Given the description of an element on the screen output the (x, y) to click on. 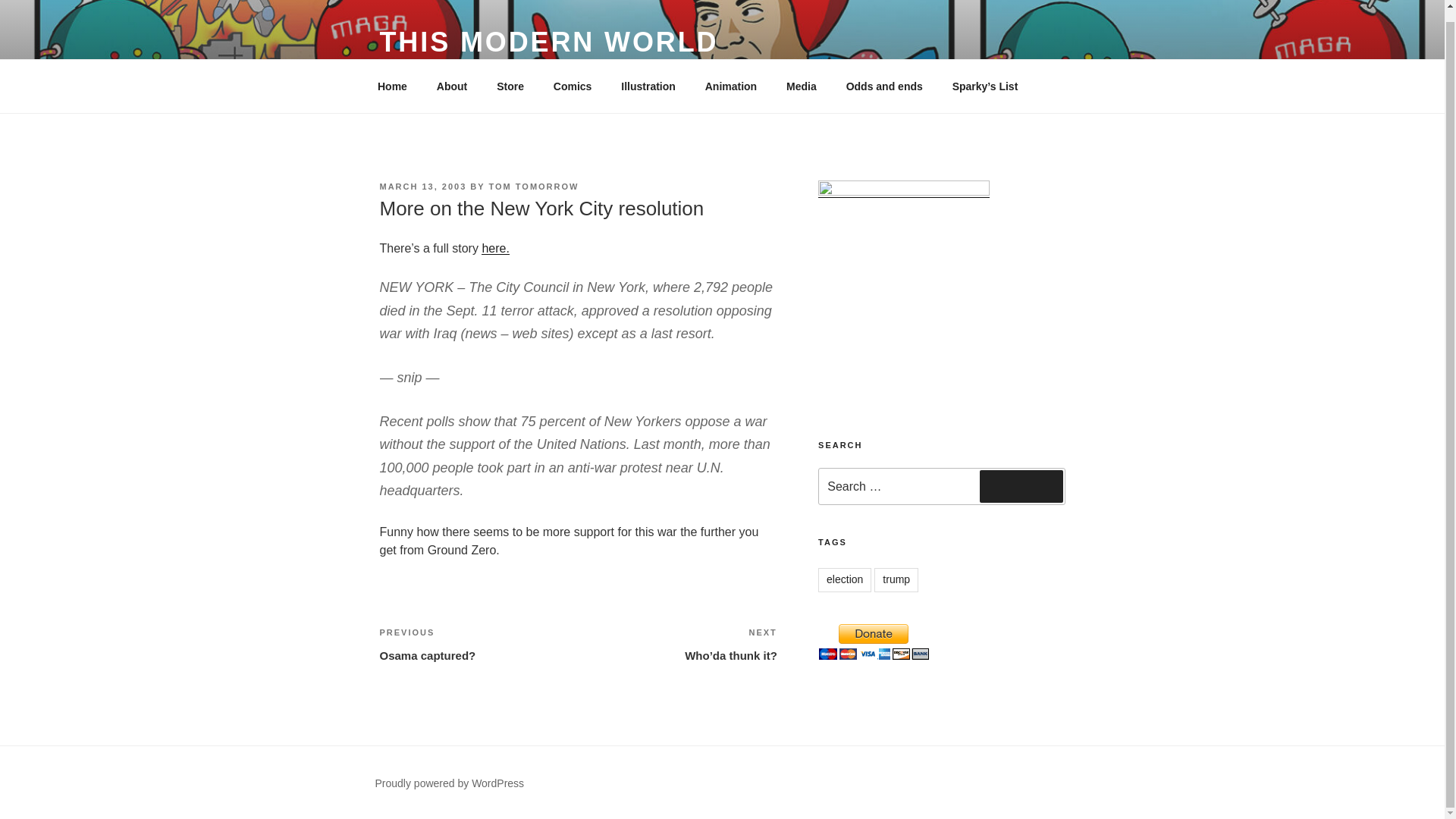
Animation (730, 85)
election (844, 580)
Proudly powered by WordPress (449, 783)
trump (478, 644)
Media (896, 580)
About (801, 85)
Illustration (451, 85)
TOM TOMORROW (648, 85)
Search (534, 185)
Odds and ends (1020, 486)
Home (884, 85)
Comics (392, 85)
MARCH 13, 2003 (572, 85)
THIS MODERN WORLD (421, 185)
